Given the description of an element on the screen output the (x, y) to click on. 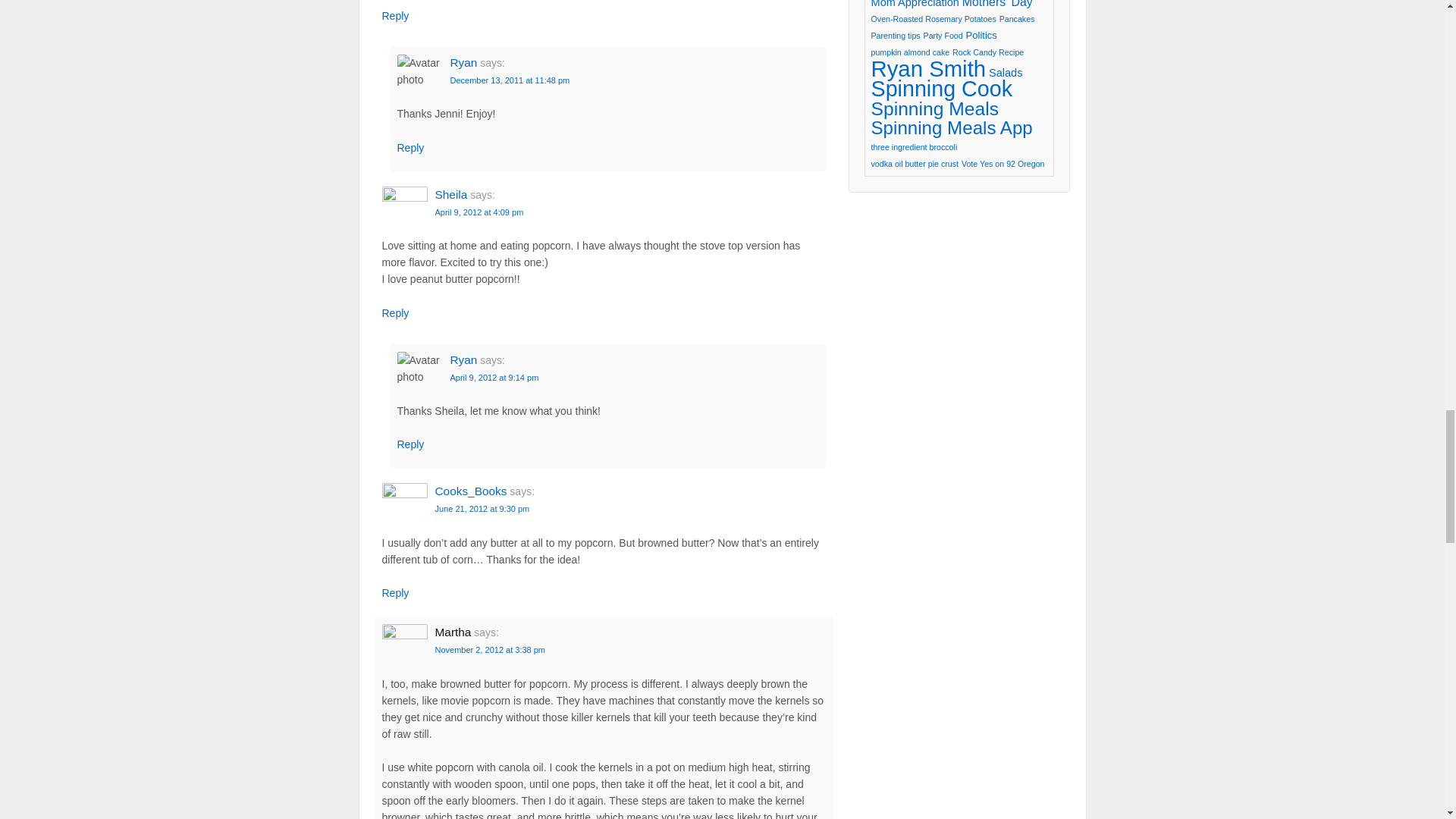
December 13, 2011 at 11:48 pm (509, 80)
April 9, 2012 at 4:09 pm (479, 212)
Reply (395, 15)
Reply (411, 147)
Ryan (463, 62)
Sheila (451, 194)
